Given the description of an element on the screen output the (x, y) to click on. 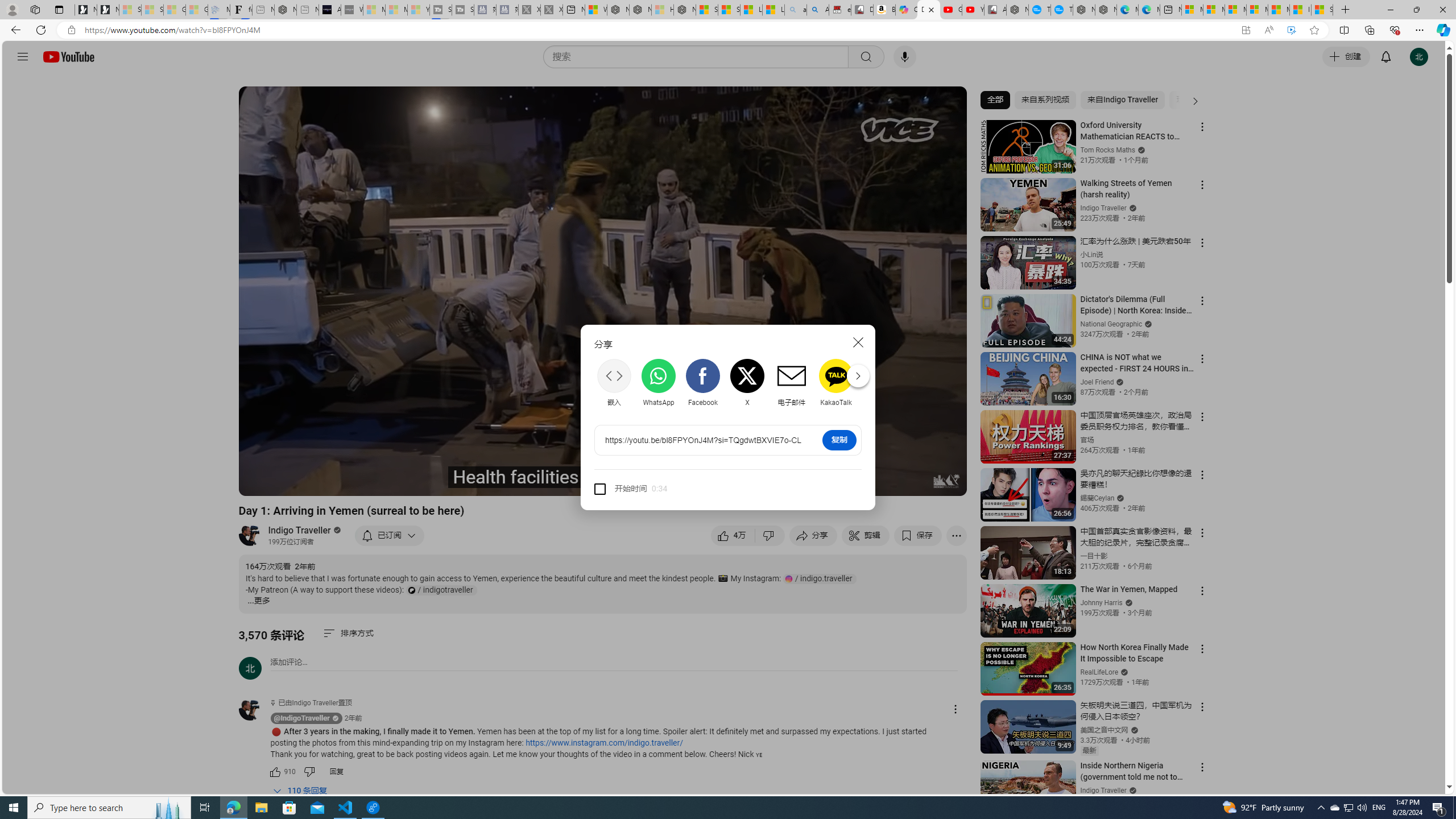
Patreon Channel Link: indigotraveller (441, 590)
WhatsApp (658, 382)
amazon - Search - Sleeping (795, 9)
